Given the description of an element on the screen output the (x, y) to click on. 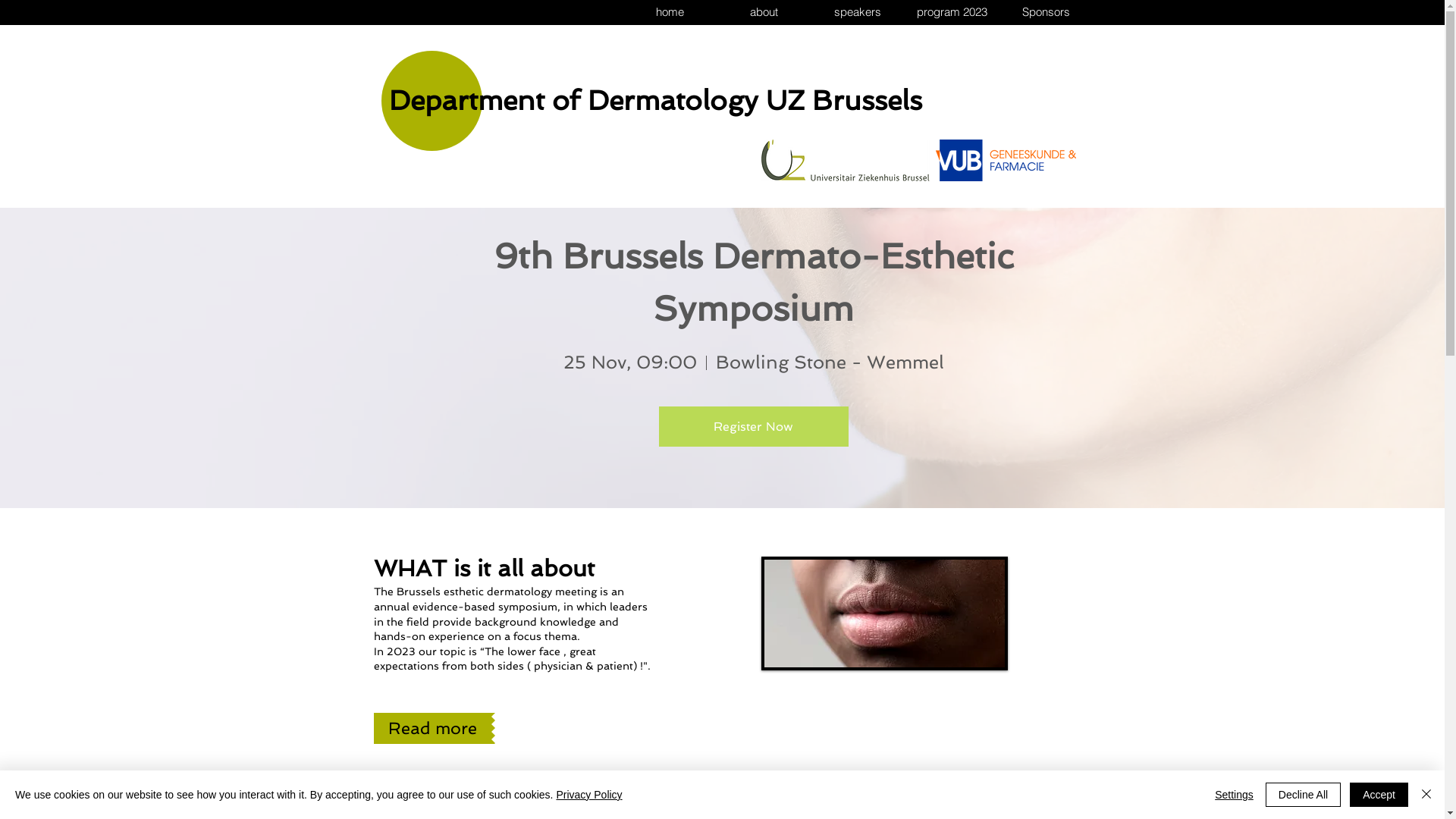
9th Brussels Dermato-Esthetic Symposium Element type: text (757, 282)
Department of Dermatology UZ Brussels Element type: text (654, 100)
Accept Element type: text (1378, 794)
Privacy Policy Element type: text (588, 794)
about Element type: text (762, 11)
home Element type: text (668, 11)
program 2023 Element type: text (950, 11)
Sponsors Element type: text (1044, 11)
speakers Element type: text (856, 11)
Register Now Element type: text (752, 426)
Read more Element type: text (431, 727)
Decline All Element type: text (1302, 794)
